Given the description of an element on the screen output the (x, y) to click on. 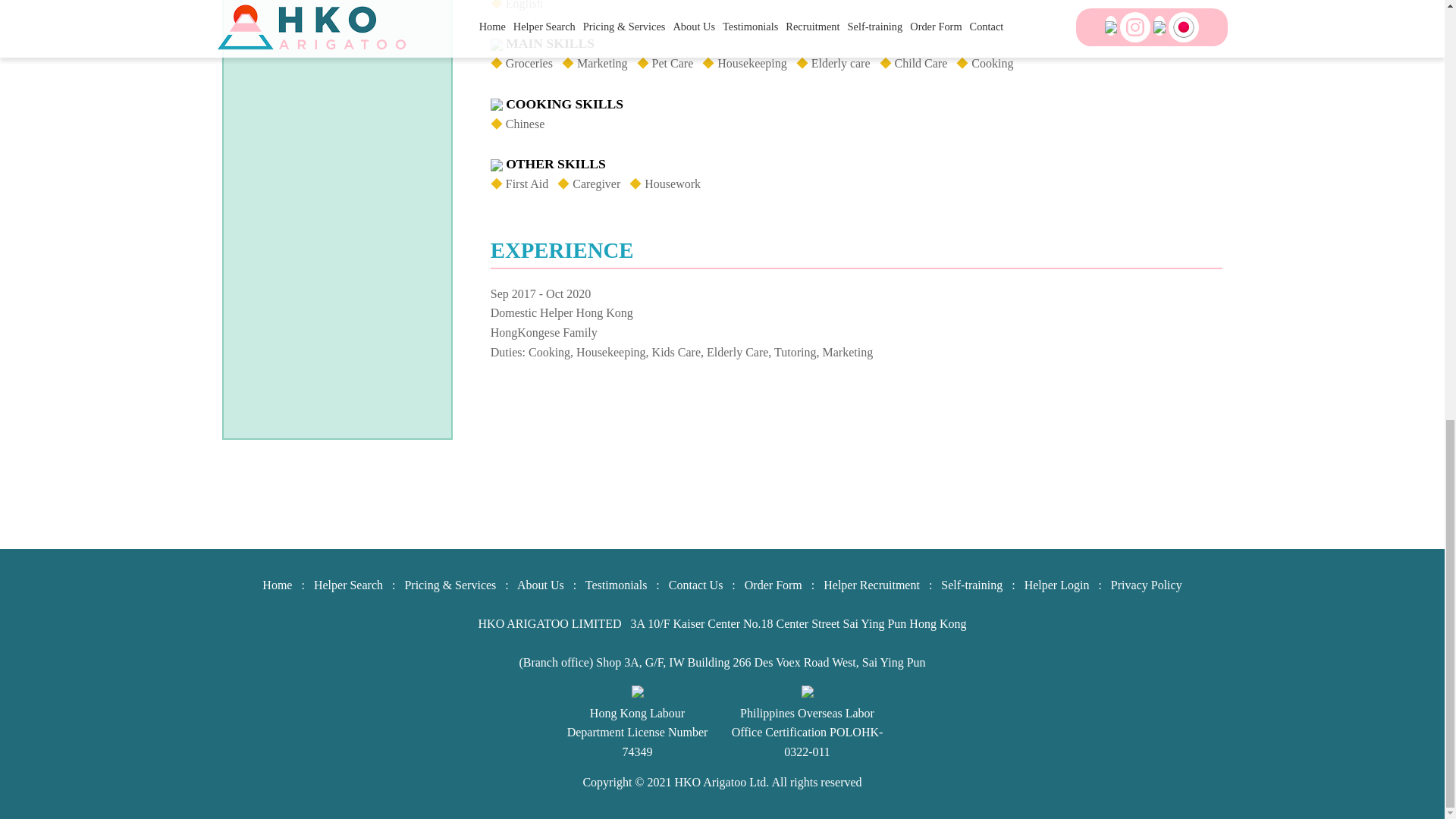
Contact Us (695, 584)
Helper Login (1057, 584)
Privacy Policy (1146, 584)
Helper Search (348, 584)
Order Form (773, 584)
Self-training (971, 584)
Home (277, 584)
Testimonials (616, 584)
Helper Recruitment (872, 584)
About Us (540, 584)
